Given the description of an element on the screen output the (x, y) to click on. 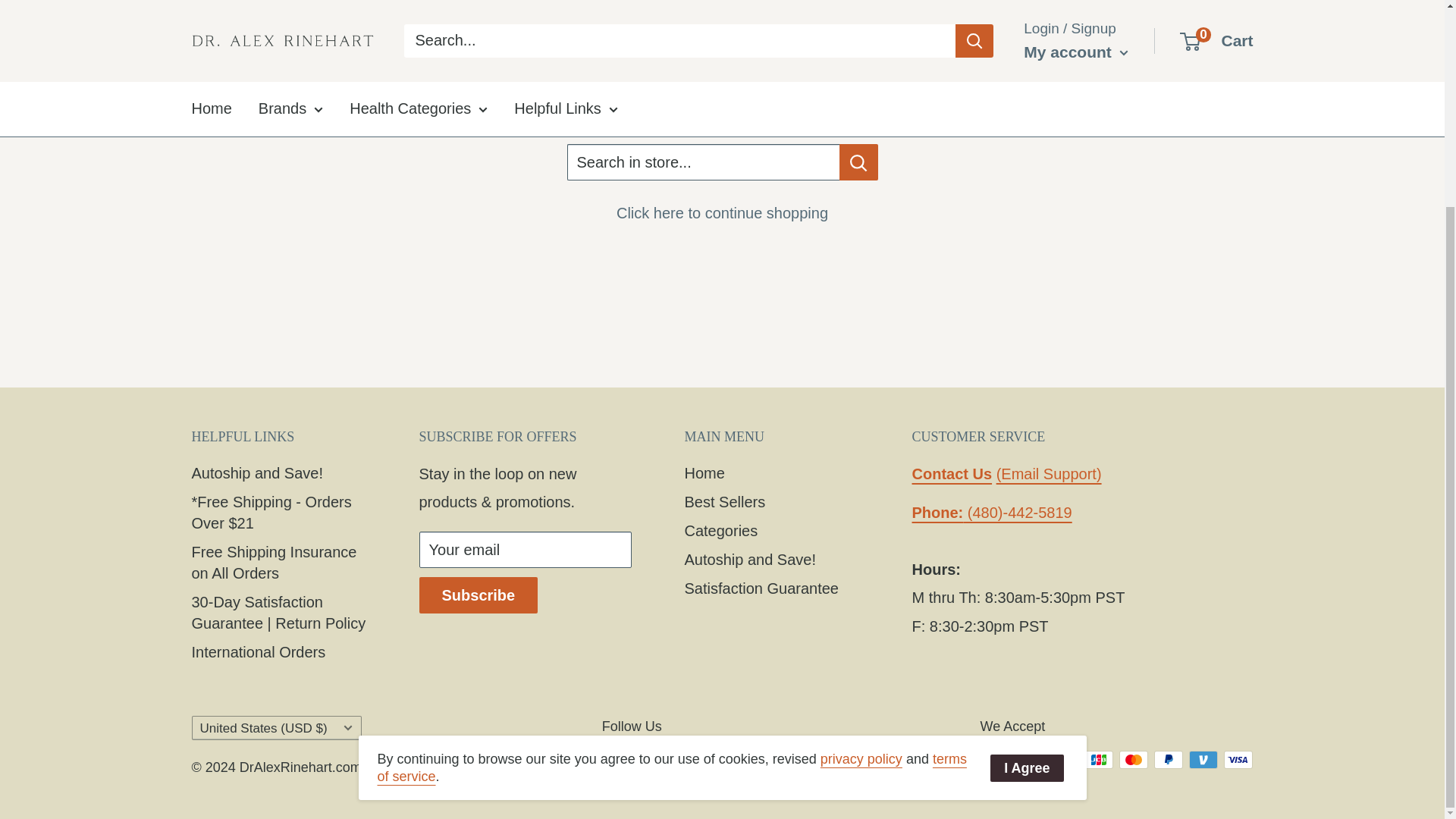
Contact Us (991, 512)
Contact Us (1048, 474)
Contact Us (951, 474)
Terms of Service (671, 501)
